Given the description of an element on the screen output the (x, y) to click on. 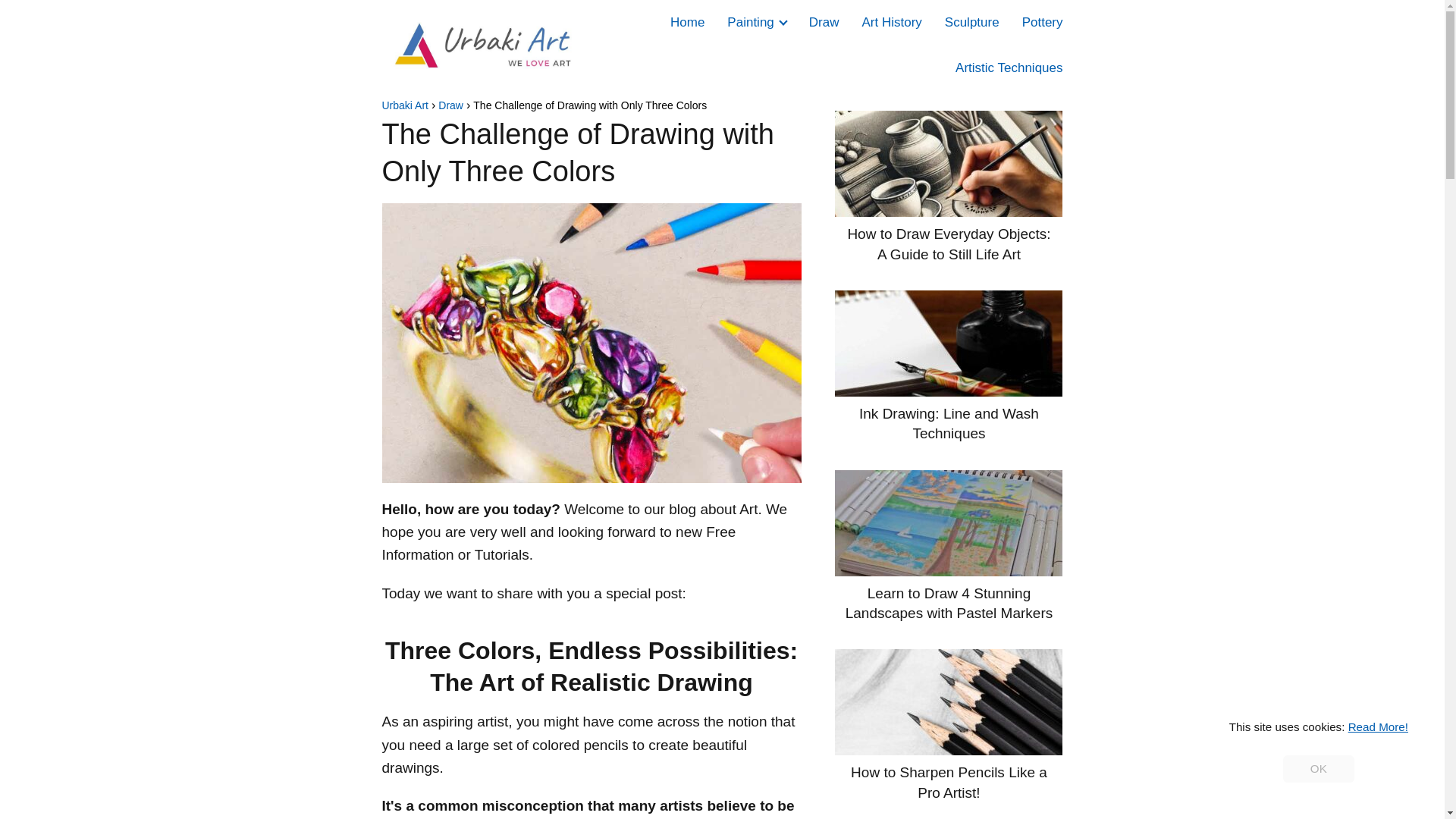
Sculpture (971, 22)
Home (686, 22)
Painting (752, 22)
Artistic Techniques (1008, 67)
Pottery (1042, 22)
Art History (891, 22)
Read More! (1377, 726)
Draw (824, 22)
Draw (450, 105)
Learn to Draw 4 Stunning Landscapes with Pastel Markers (948, 547)
OK (1318, 768)
How to Sharpen Pencils Like a Pro Artist! (948, 726)
Ink Drawing: Line and Wash Techniques (948, 367)
Urbaki Art (404, 105)
How to Draw Everyday Objects: A Guide to Still Life Art (948, 187)
